Given the description of an element on the screen output the (x, y) to click on. 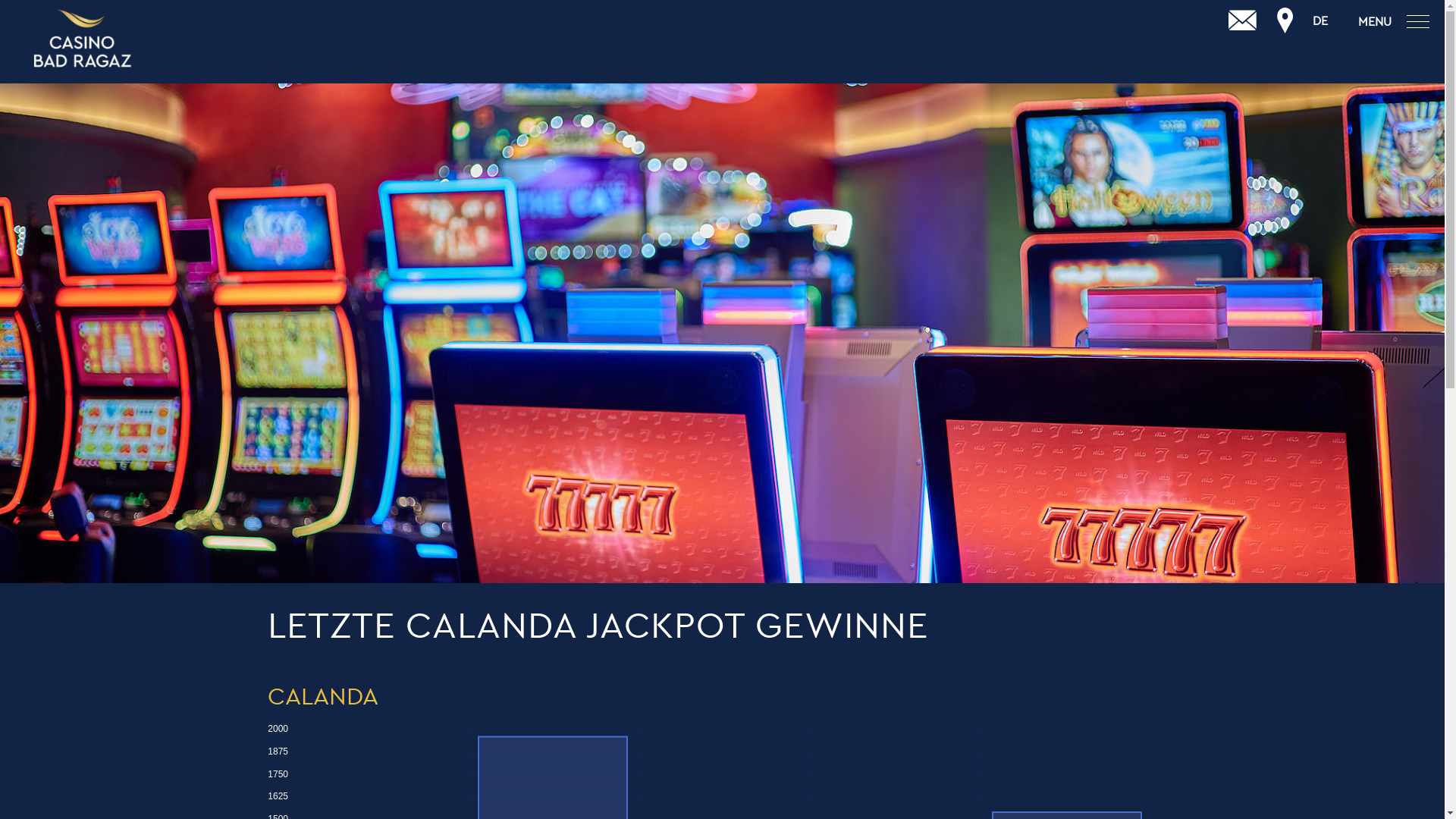
Kontakt Element type: hover (1242, 21)
Anfahrt Element type: hover (1285, 21)
Grand Resort Bad Ragaz Element type: hover (83, 39)
